Given the description of an element on the screen output the (x, y) to click on. 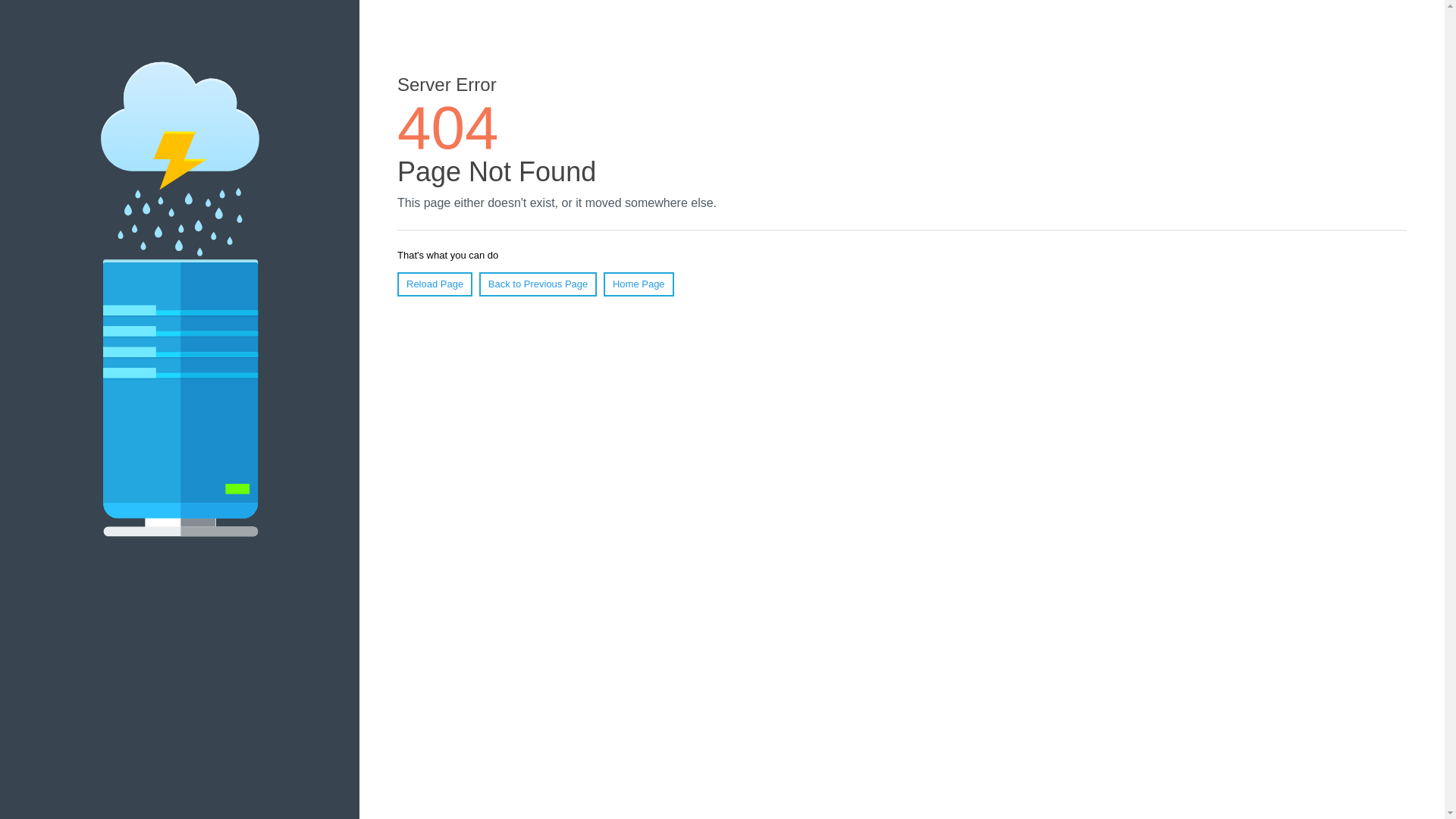
Reload Page Element type: text (434, 284)
Home Page Element type: text (638, 284)
Back to Previous Page Element type: text (538, 284)
